Given the description of an element on the screen output the (x, y) to click on. 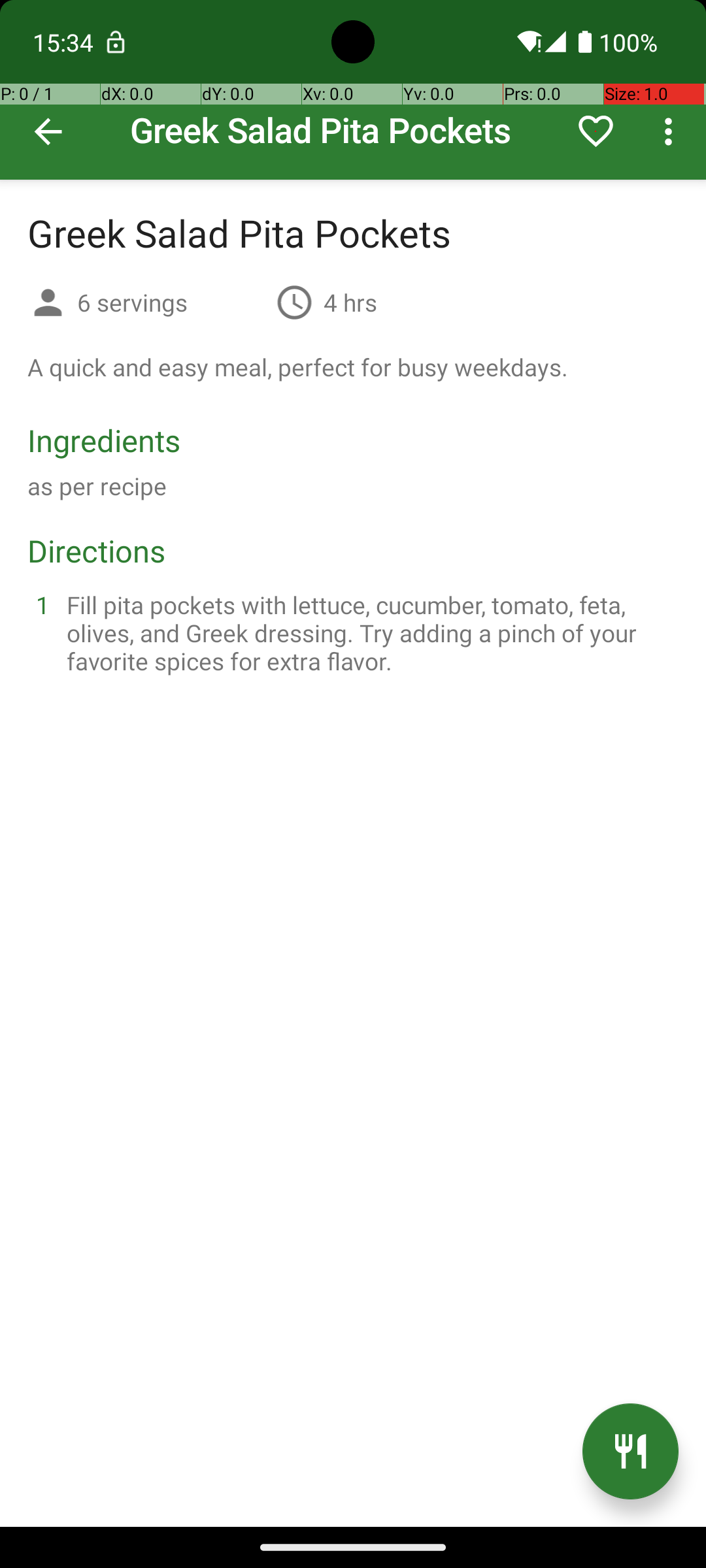
Fill pita pockets with lettuce, cucumber, tomato, feta, olives, and Greek dressing. Try adding a pinch of your favorite spices for extra flavor. Element type: android.widget.TextView (368, 632)
